Given the description of an element on the screen output the (x, y) to click on. 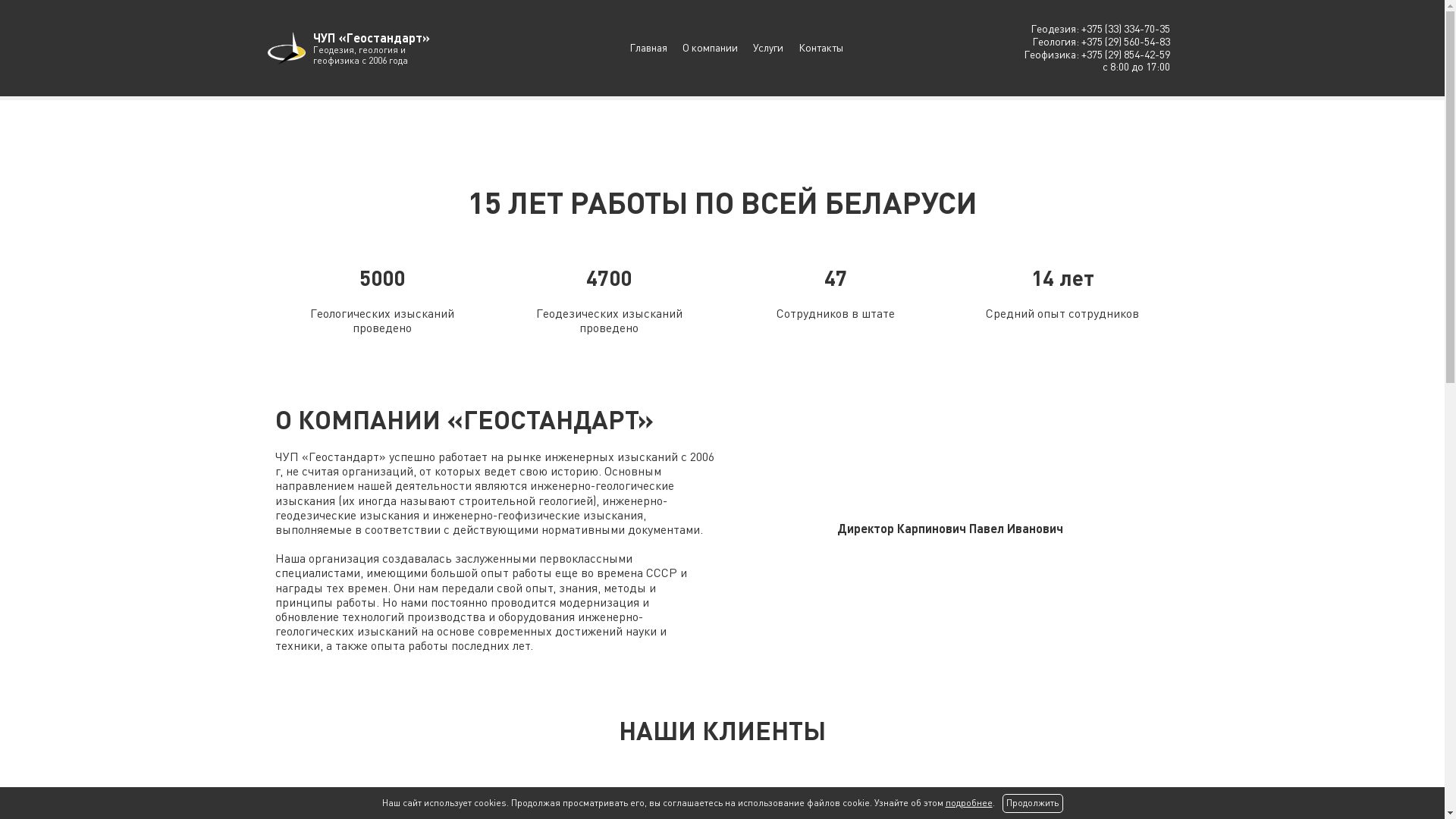
+375 (29) 854-42-59 Element type: text (1125, 53)
+375 (29) 560-54-83 Element type: text (1125, 40)
+375 (33) 334-70-35 Element type: text (1125, 27)
